Given the description of an element on the screen output the (x, y) to click on. 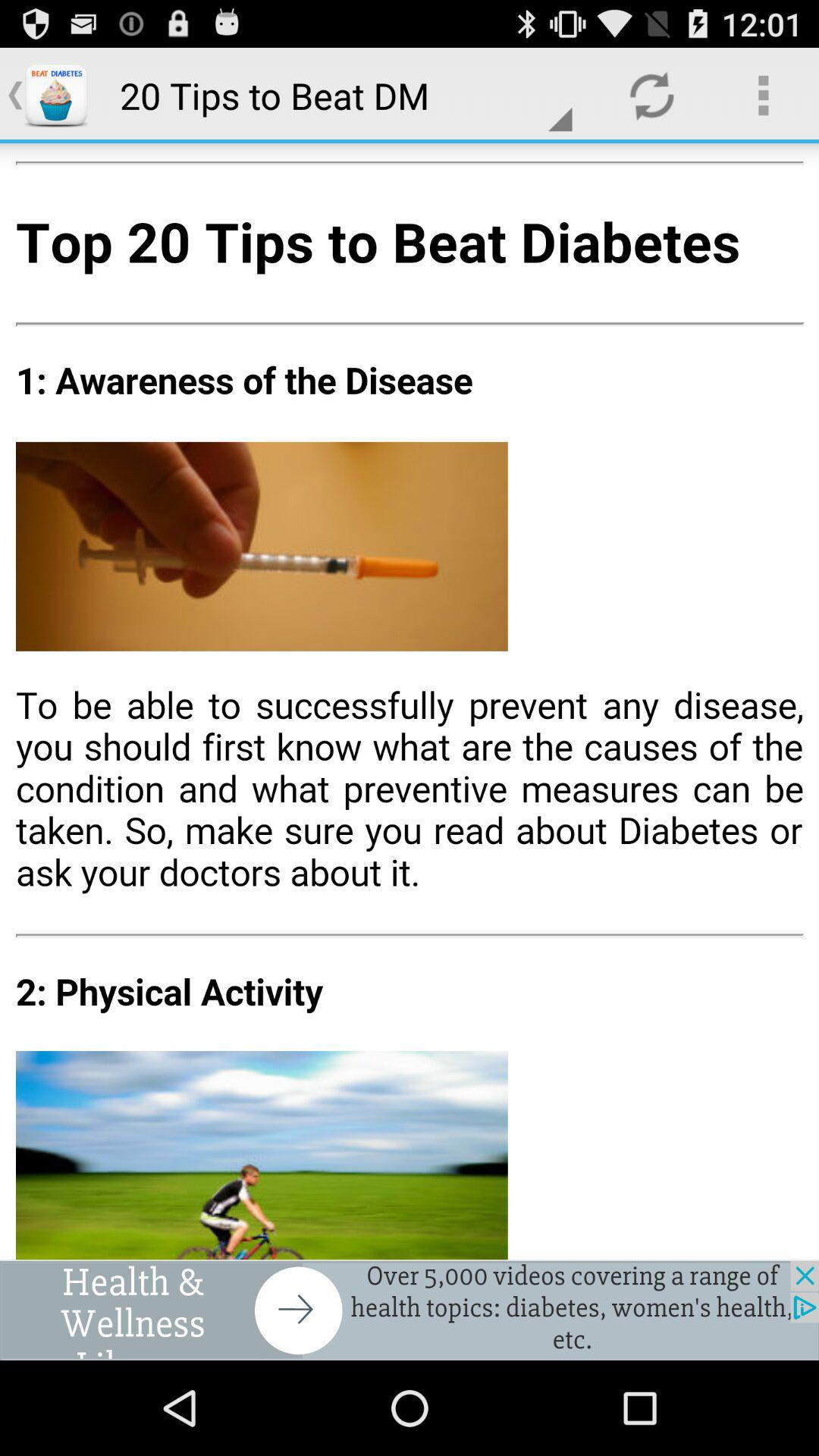
select the add (409, 1310)
